Given the description of an element on the screen output the (x, y) to click on. 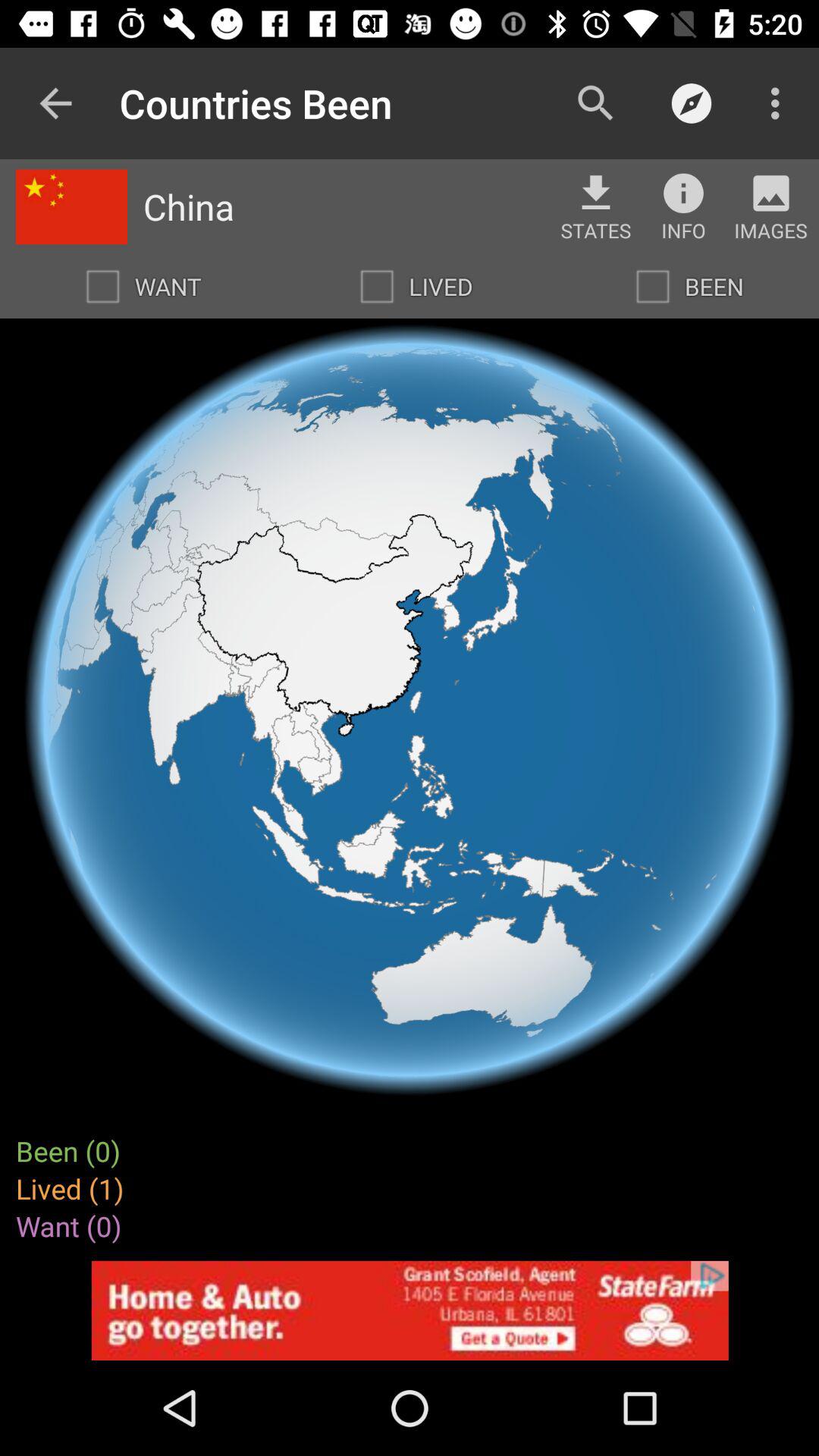
advertising (409, 1310)
